Given the description of an element on the screen output the (x, y) to click on. 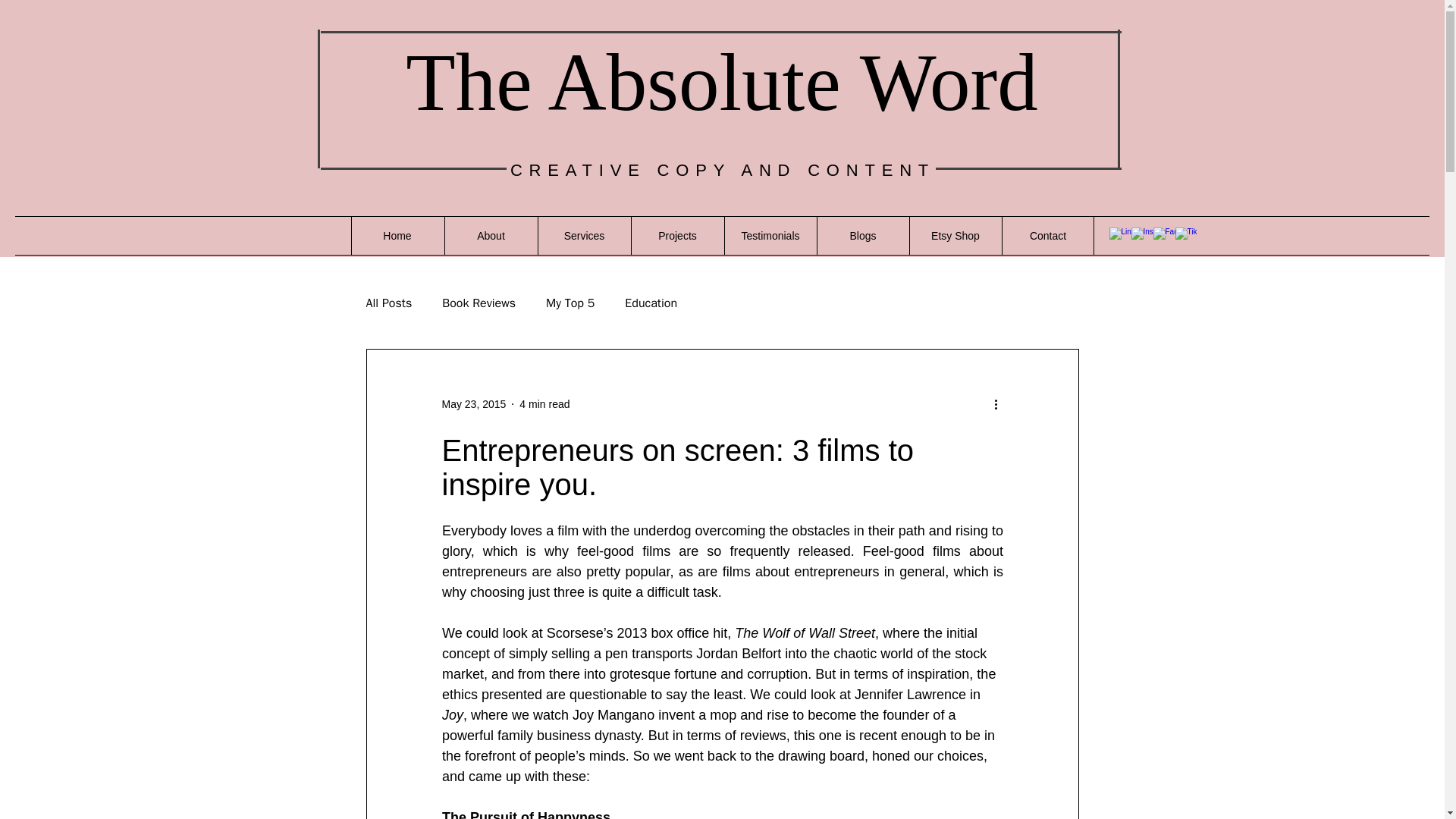
The Absolute Word (721, 82)
May 23, 2015 (473, 403)
Testimonials (769, 235)
Projects (676, 235)
My Top 5 (570, 303)
Services (583, 235)
Education (650, 303)
Blogs (861, 235)
Contact (1047, 235)
Home (397, 235)
